Given the description of an element on the screen output the (x, y) to click on. 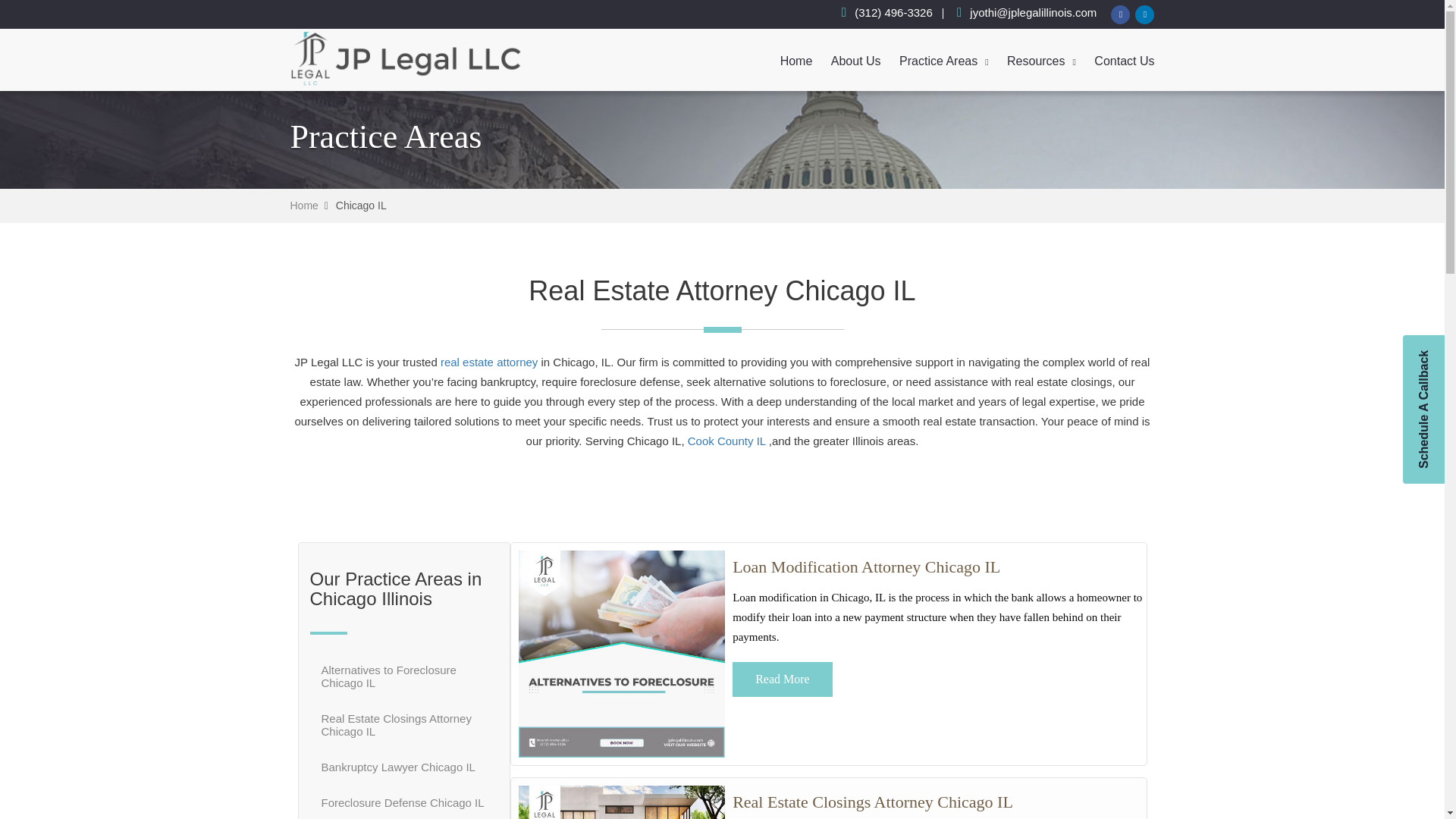
real estate attorney (489, 361)
Alternatives to Foreclosure Chicago IL (402, 676)
Resources (1041, 59)
service-jp-legal-illinois-2 (621, 802)
Cook County IL (726, 440)
Read More (782, 678)
Practice Areas (943, 59)
Real Estate Closings Attorney Chicago IL (402, 725)
Loan Modification Attorney Chicago IL (866, 566)
Alternatives to Foreclosure Chicago IL (866, 566)
Contact Us (1124, 58)
Home (303, 205)
Foreclosure Defense Chicago IL (401, 802)
service-jp-legal-illinois-5 (621, 653)
Bankruptcy Lawyer Chicago IL (397, 766)
